Given the description of an element on the screen output the (x, y) to click on. 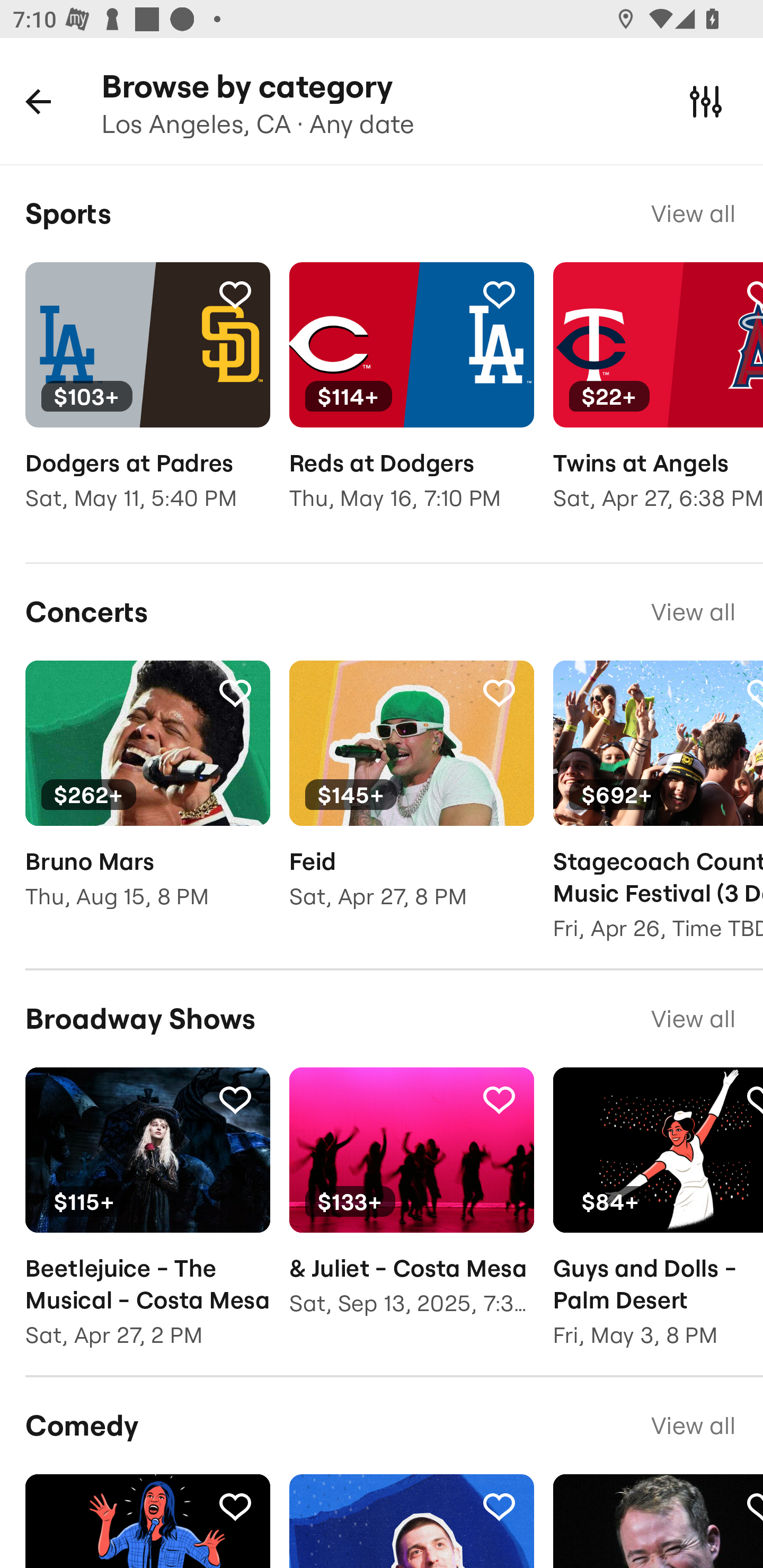
Back (38, 100)
Filters (705, 100)
View all (693, 212)
Tracking $22+ Twins at Angels Sat, Apr 27, 6:38 PM (658, 399)
Tracking (234, 293)
Tracking (498, 293)
View all (693, 611)
Tracking $262+ Bruno Mars Thu, Aug 15, 8 PM (147, 798)
Tracking $145+ Feid Sat, Apr 27, 8 PM (411, 798)
Tracking (234, 691)
Tracking (498, 691)
View all (693, 1018)
Tracking (234, 1098)
Tracking (498, 1098)
View all (693, 1424)
Tracking (234, 1505)
Tracking (498, 1505)
